Given the description of an element on the screen output the (x, y) to click on. 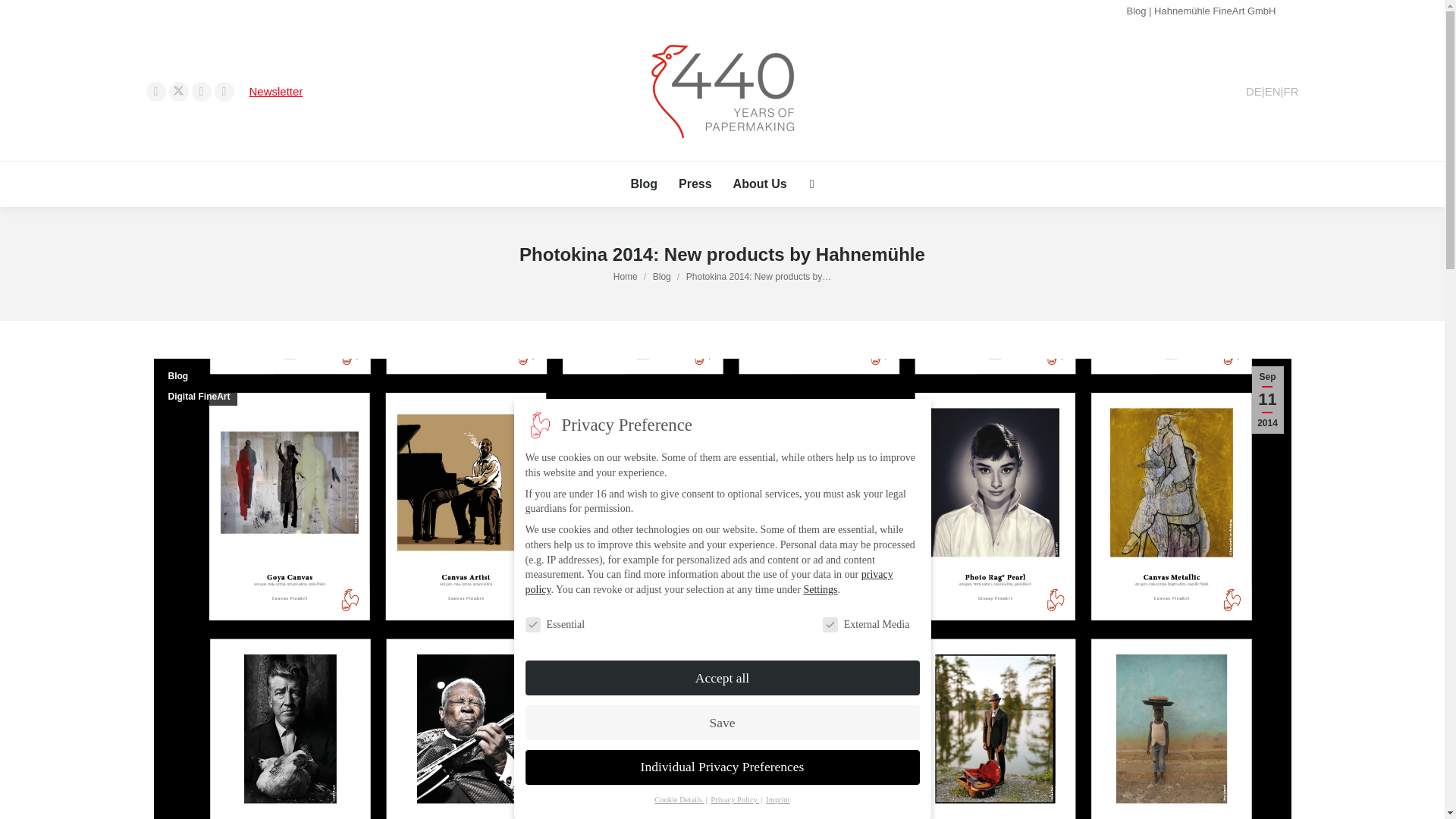
DE (1254, 91)
Instagram page opens in new window (200, 91)
Instagram page opens in new window (200, 91)
Press (694, 183)
Newsletter (275, 91)
About Us (760, 183)
Go! (24, 16)
Twitter page opens in new window (177, 91)
EN (1273, 91)
Facebook page opens in new window (155, 91)
Newsletter subscription (275, 91)
FR (1290, 91)
EN (1273, 91)
Linkedin page opens in new window (223, 91)
Twitter page opens in new window (177, 91)
